Given the description of an element on the screen output the (x, y) to click on. 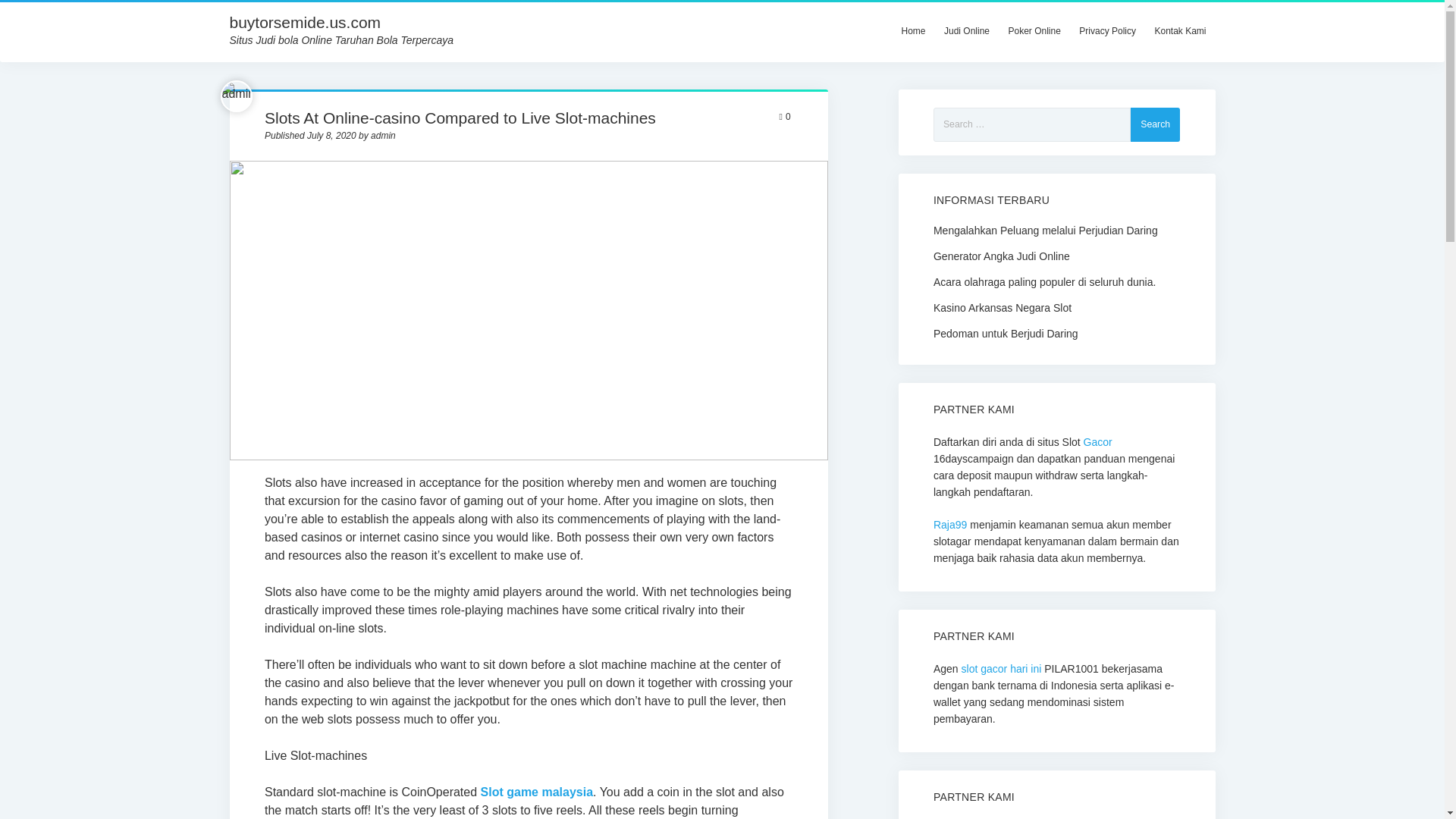
Poker Online (1033, 31)
Search (1155, 124)
Kasino Arkansas Negara Slot (1056, 306)
Raja99 (949, 524)
slot gacor hari ini (1001, 668)
Mengalahkan Peluang melalui Perjudian Daring (1056, 229)
Search (1155, 124)
Acara olahraga paling populer di seluruh dunia. (1056, 280)
Pedoman untuk Berjudi Daring (1056, 332)
Home (913, 31)
